Given the description of an element on the screen output the (x, y) to click on. 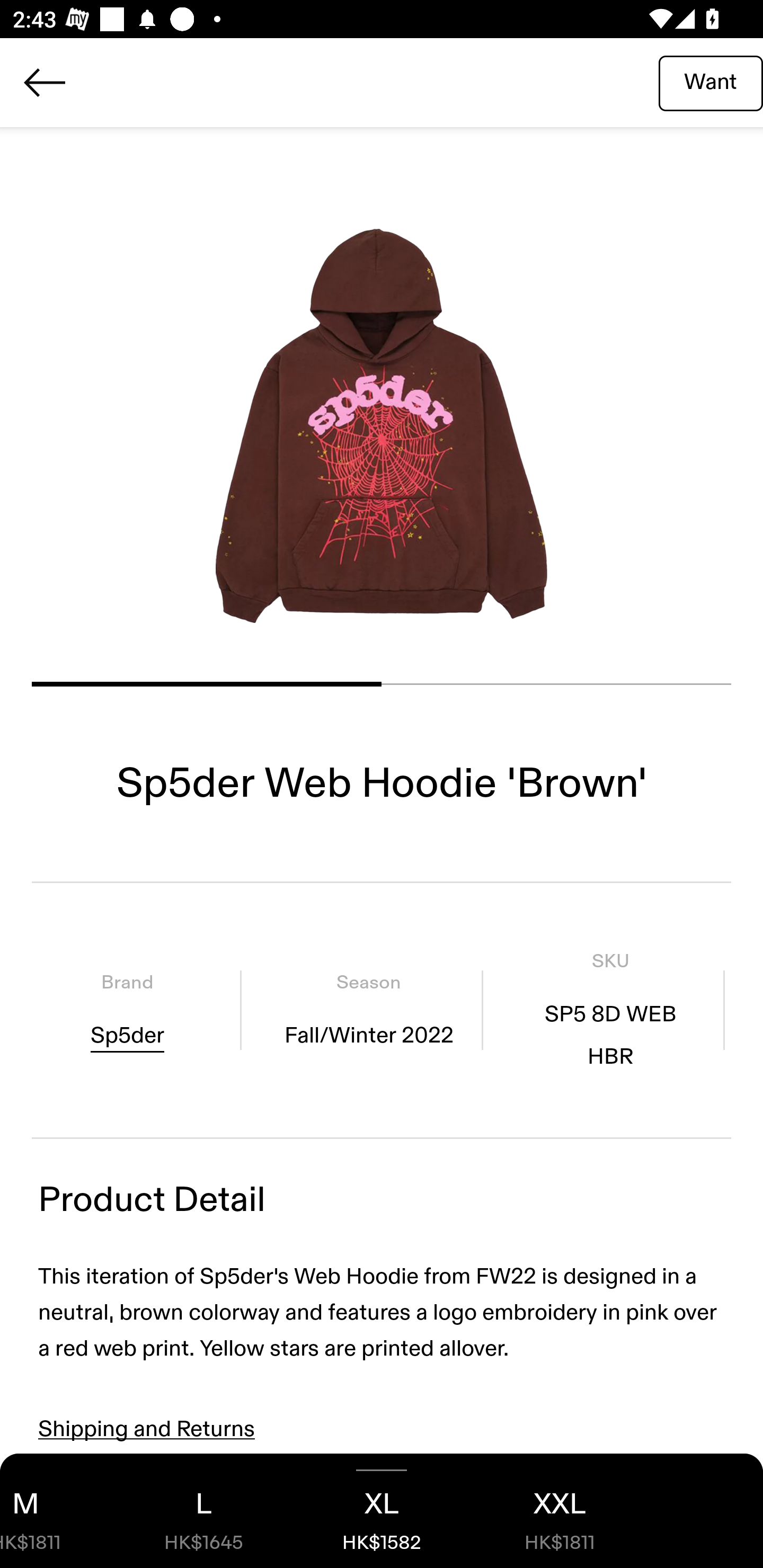
Want (710, 82)
Brand Sp5der (126, 1009)
Season Fall/Winter 2022 (368, 1009)
SKU SP5 8D WEB HBR (609, 1009)
Shipping and Returns (146, 1429)
M HK$1811 (57, 1510)
L HK$1645 (203, 1510)
XL HK$1582 (381, 1510)
XXL HK$1811 (559, 1510)
